Given the description of an element on the screen output the (x, y) to click on. 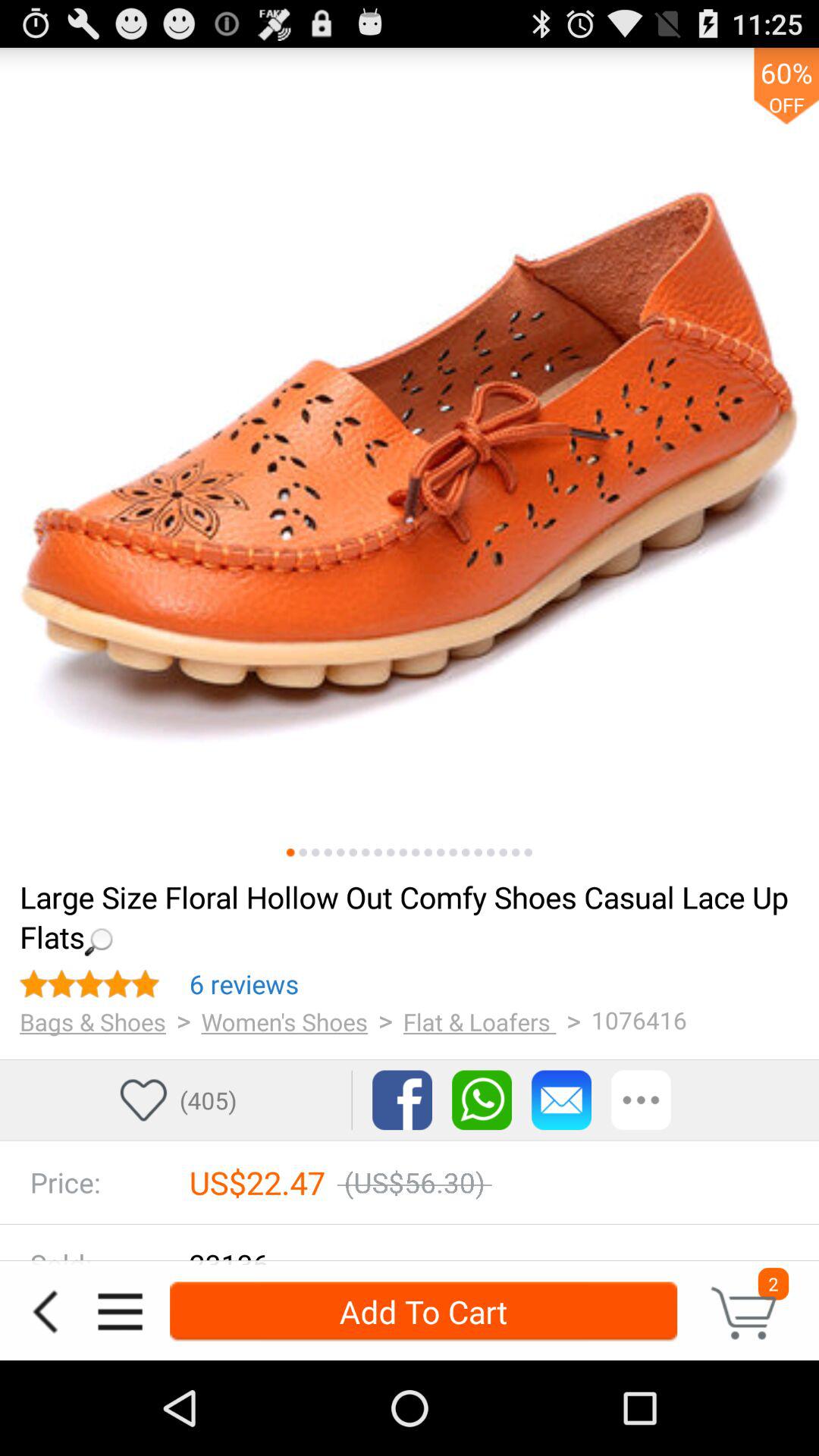
go to second sample image (303, 852)
